Given the description of an element on the screen output the (x, y) to click on. 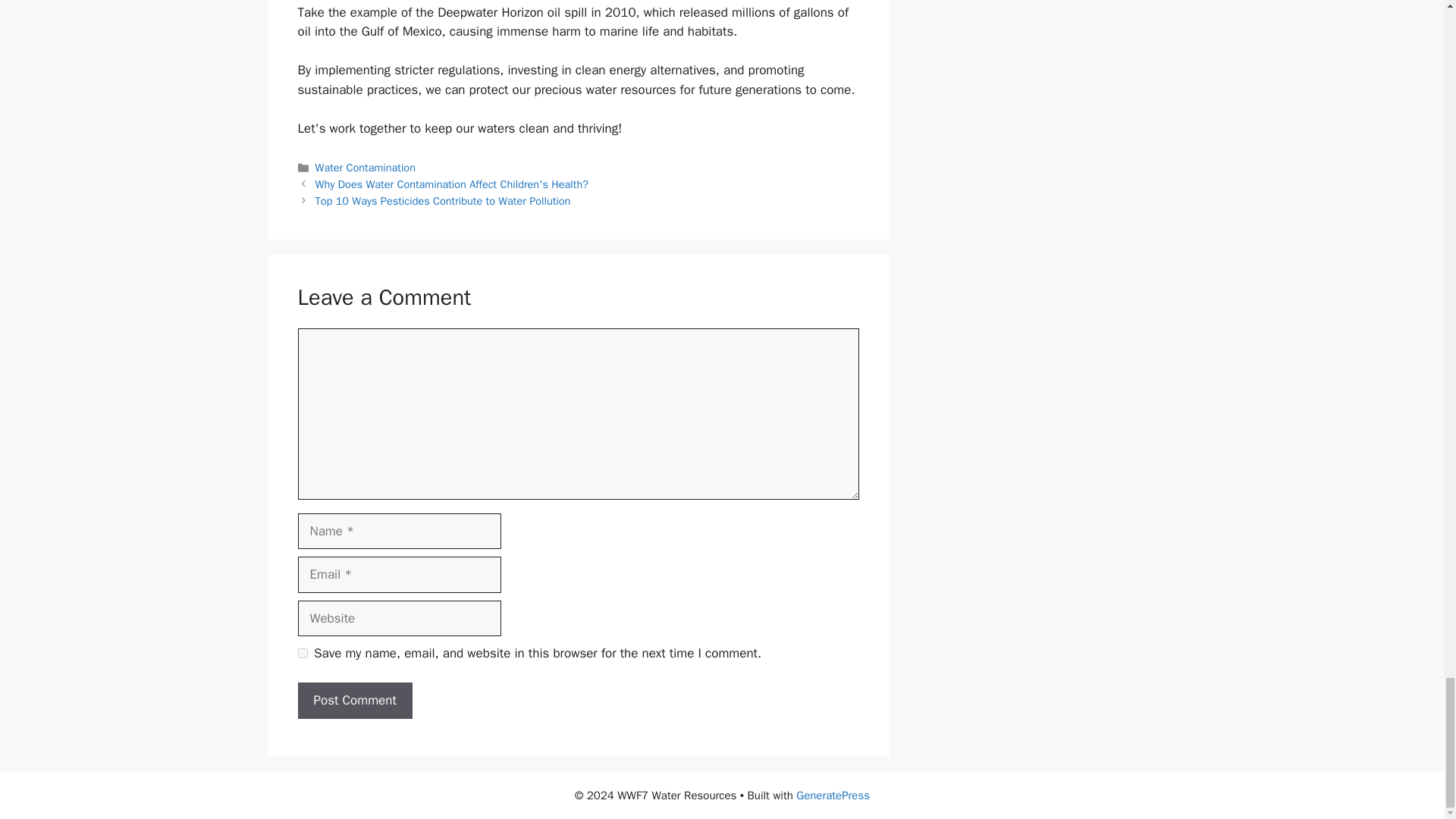
Previous (451, 183)
Water Contamination (364, 167)
GeneratePress (832, 795)
yes (302, 653)
Post Comment (354, 700)
Top 10 Ways Pesticides Contribute to Water Pollution (442, 201)
Next (442, 201)
Why Does Water Contamination Affect Children's Health? (451, 183)
Post Comment (354, 700)
